Given the description of an element on the screen output the (x, y) to click on. 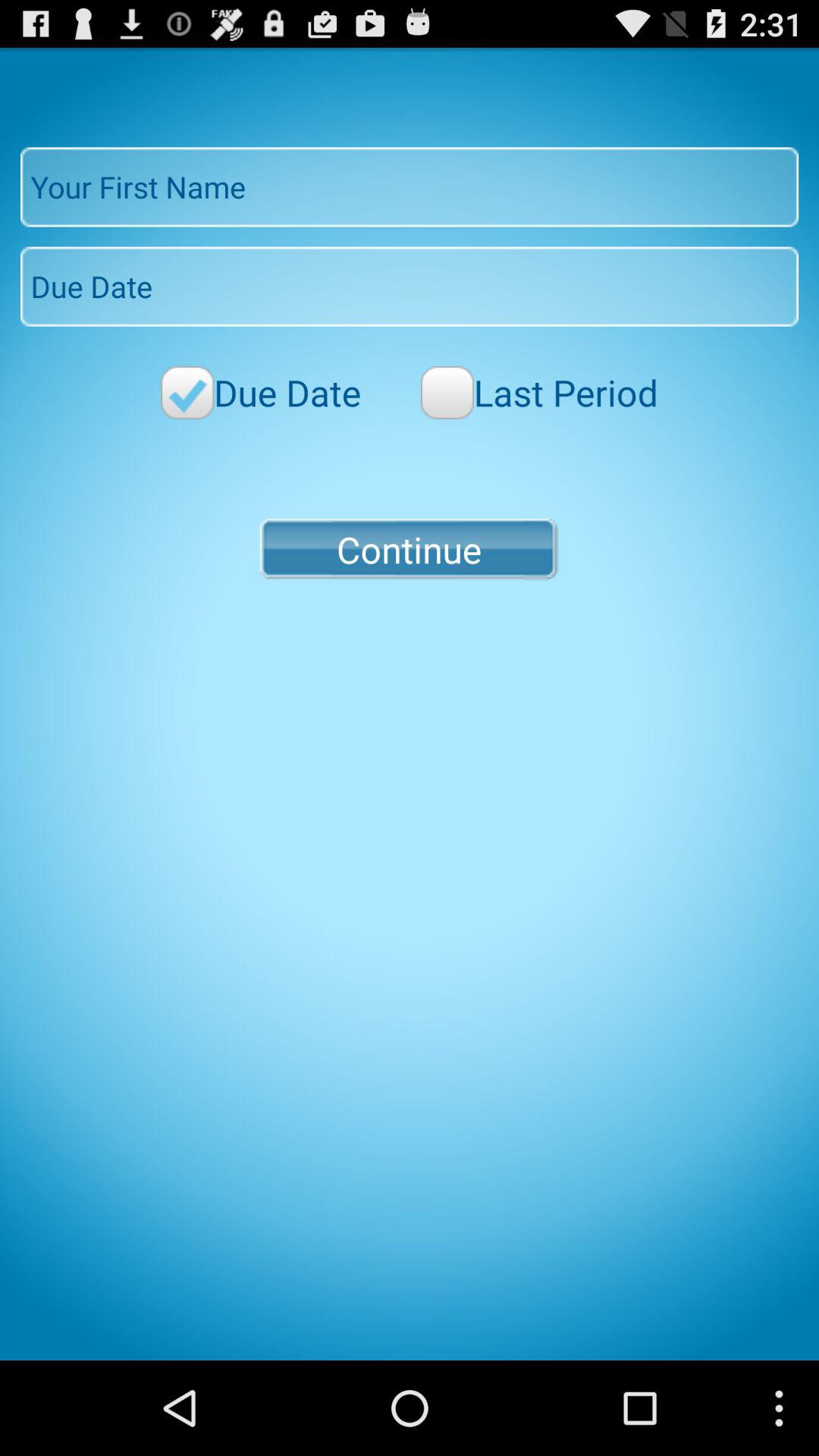
turn off the icon next to the due date (539, 392)
